Given the description of an element on the screen output the (x, y) to click on. 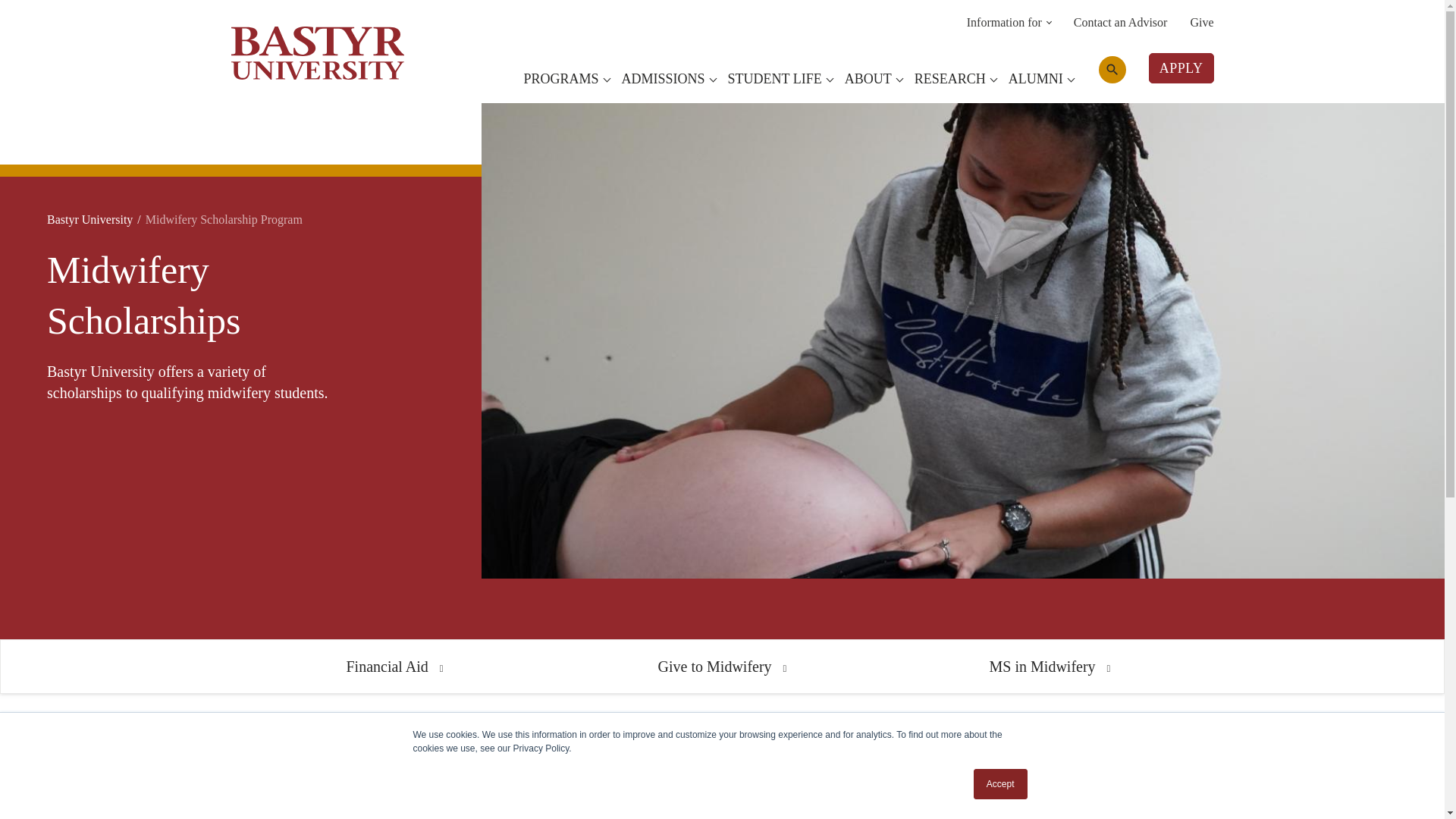
ADMISSIONS (668, 78)
STUDENT LIFE (780, 78)
PROGRAMS (565, 78)
Accept (1000, 784)
